Given the description of an element on the screen output the (x, y) to click on. 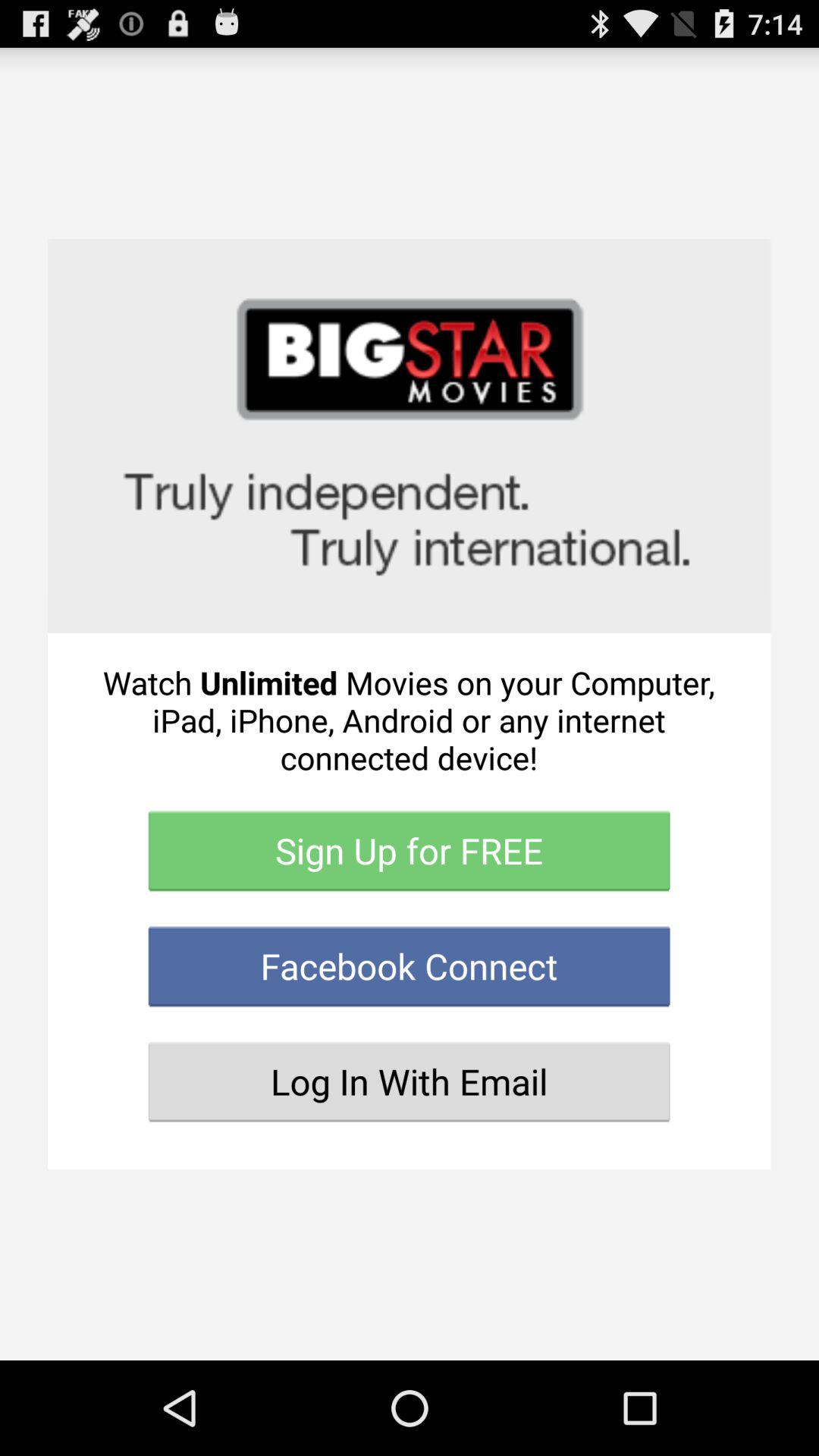
press the item below the sign up for (408, 966)
